Given the description of an element on the screen output the (x, y) to click on. 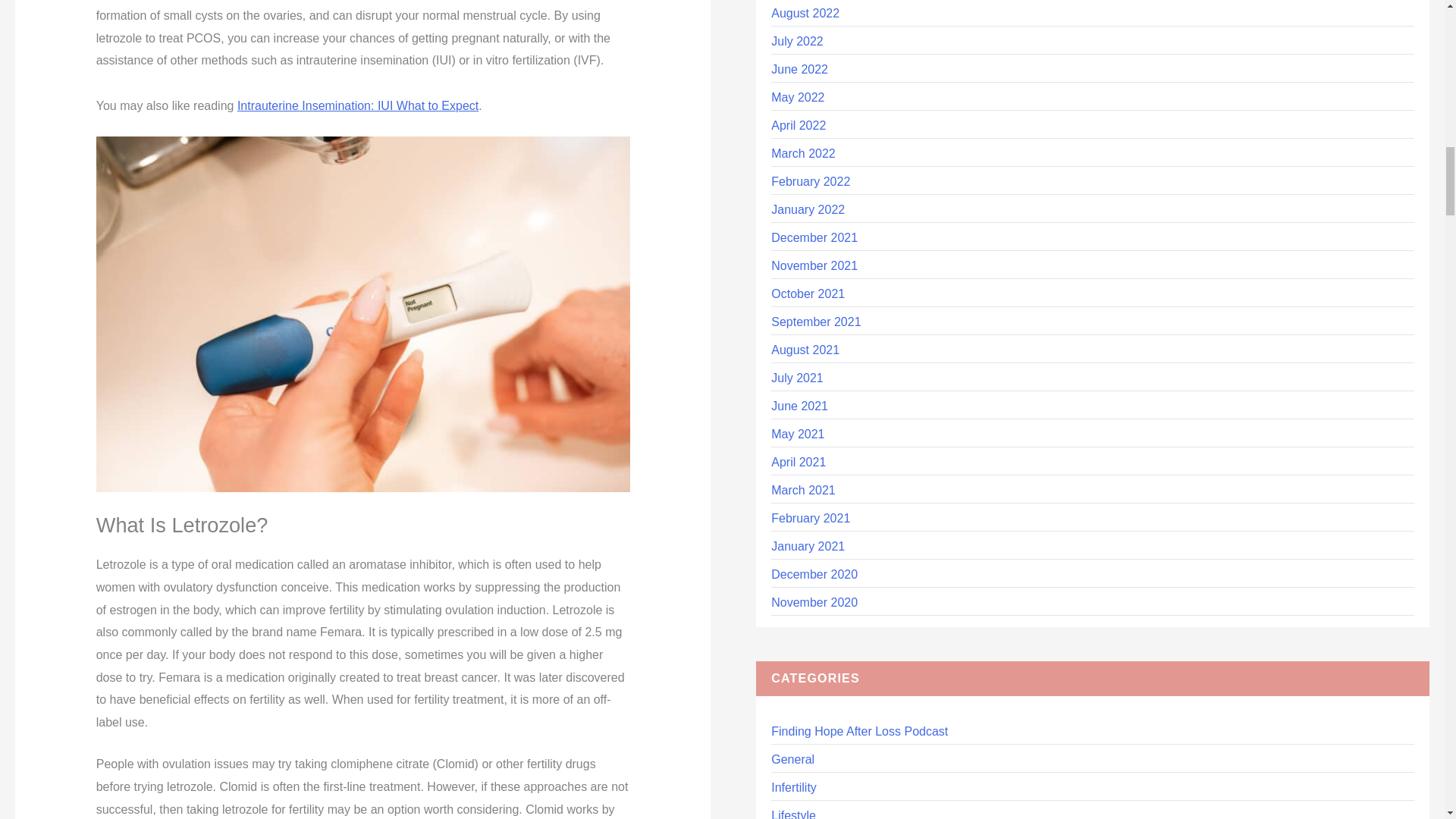
Intrauterine Insemination: IUI What to Expect (358, 105)
